Given the description of an element on the screen output the (x, y) to click on. 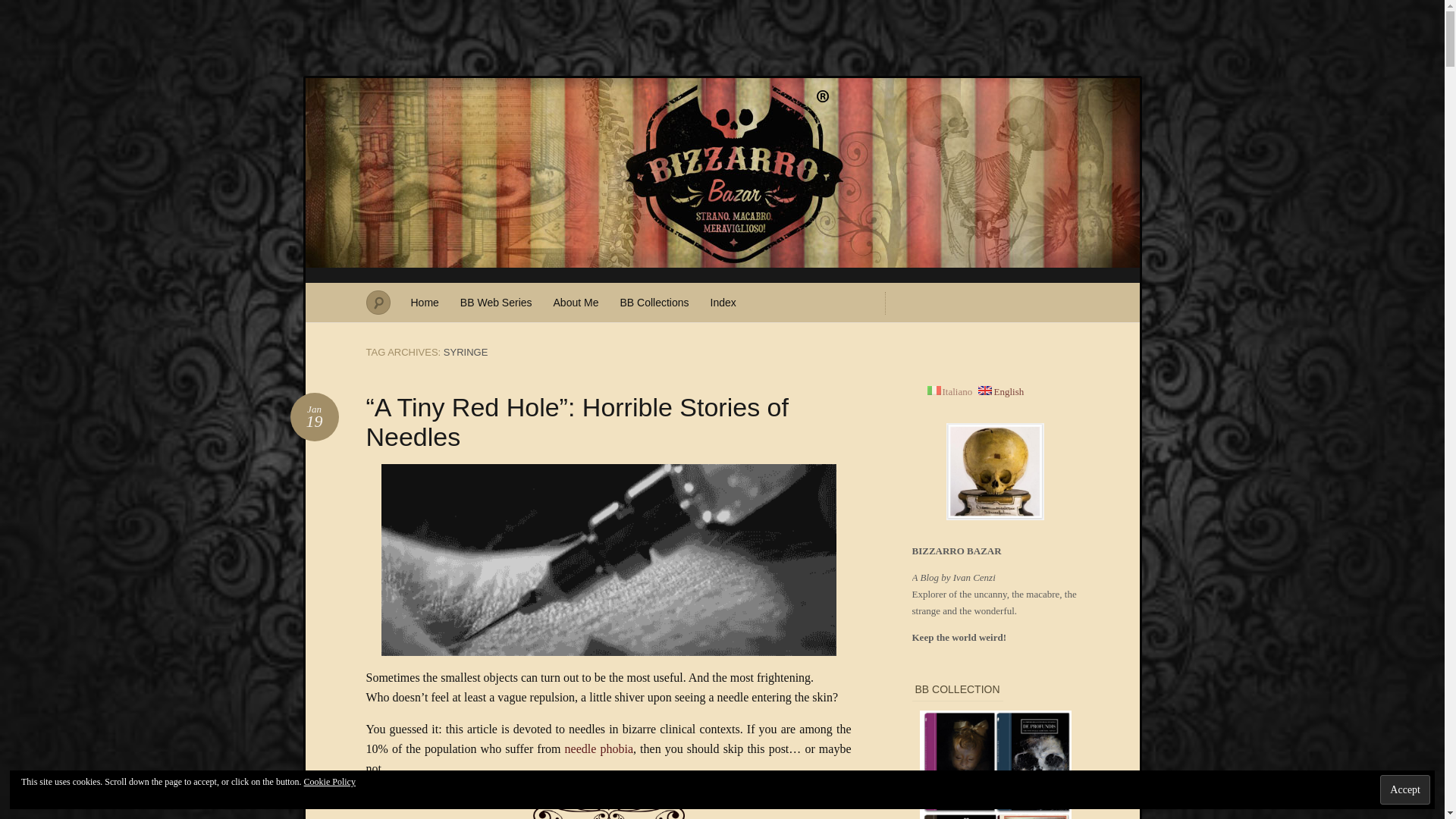
BB COLLECTION (994, 764)
Index (723, 301)
needle phobia (598, 748)
Accept (1404, 789)
About Me (576, 301)
BB Web Series (496, 301)
BB Collections (653, 301)
January 19 2018 (313, 417)
